Given the description of an element on the screen output the (x, y) to click on. 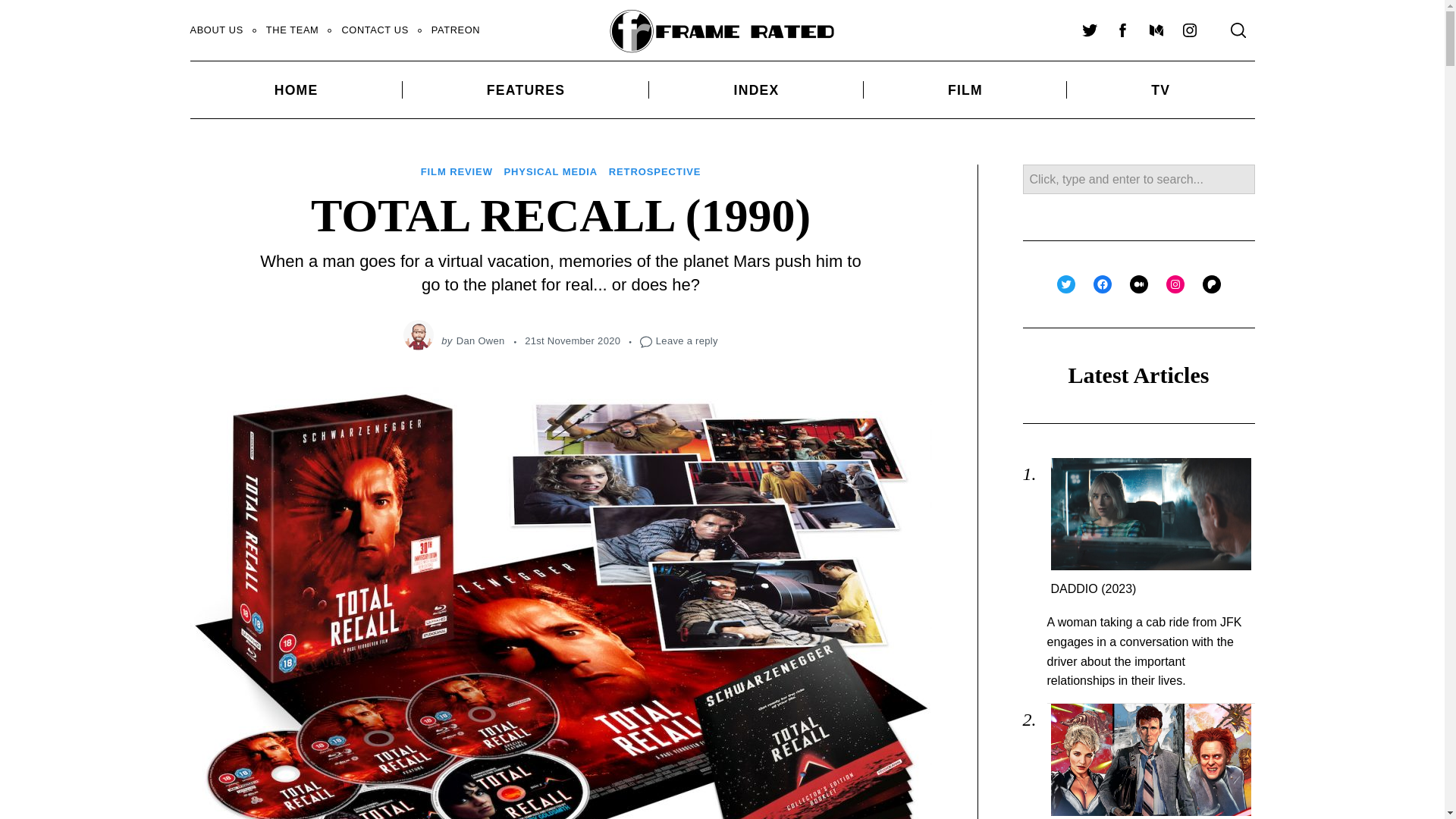
INDEX (756, 89)
CONTACT US (374, 30)
Medium (1155, 29)
Facebook (1121, 29)
THE TEAM (292, 30)
TV (1160, 89)
Twitter (1088, 29)
FILM (965, 89)
ABOUT US (216, 30)
FEATURES (526, 89)
